Given the description of an element on the screen output the (x, y) to click on. 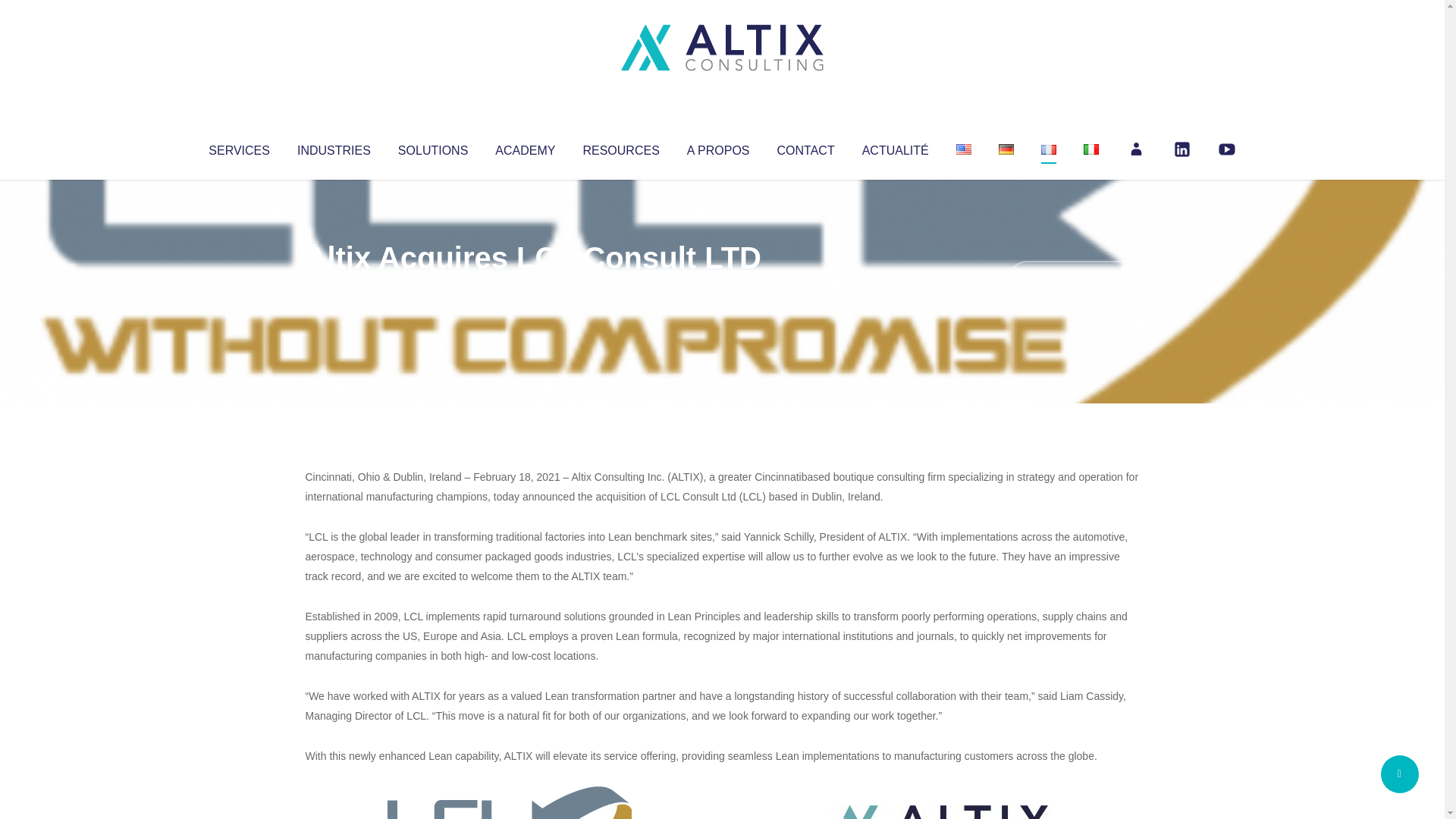
INDUSTRIES (334, 146)
SOLUTIONS (432, 146)
ACADEMY (524, 146)
Uncategorized (530, 287)
SERVICES (238, 146)
Altix (333, 287)
Articles par Altix (333, 287)
RESOURCES (620, 146)
No Comments (1073, 278)
A PROPOS (718, 146)
